Given the description of an element on the screen output the (x, y) to click on. 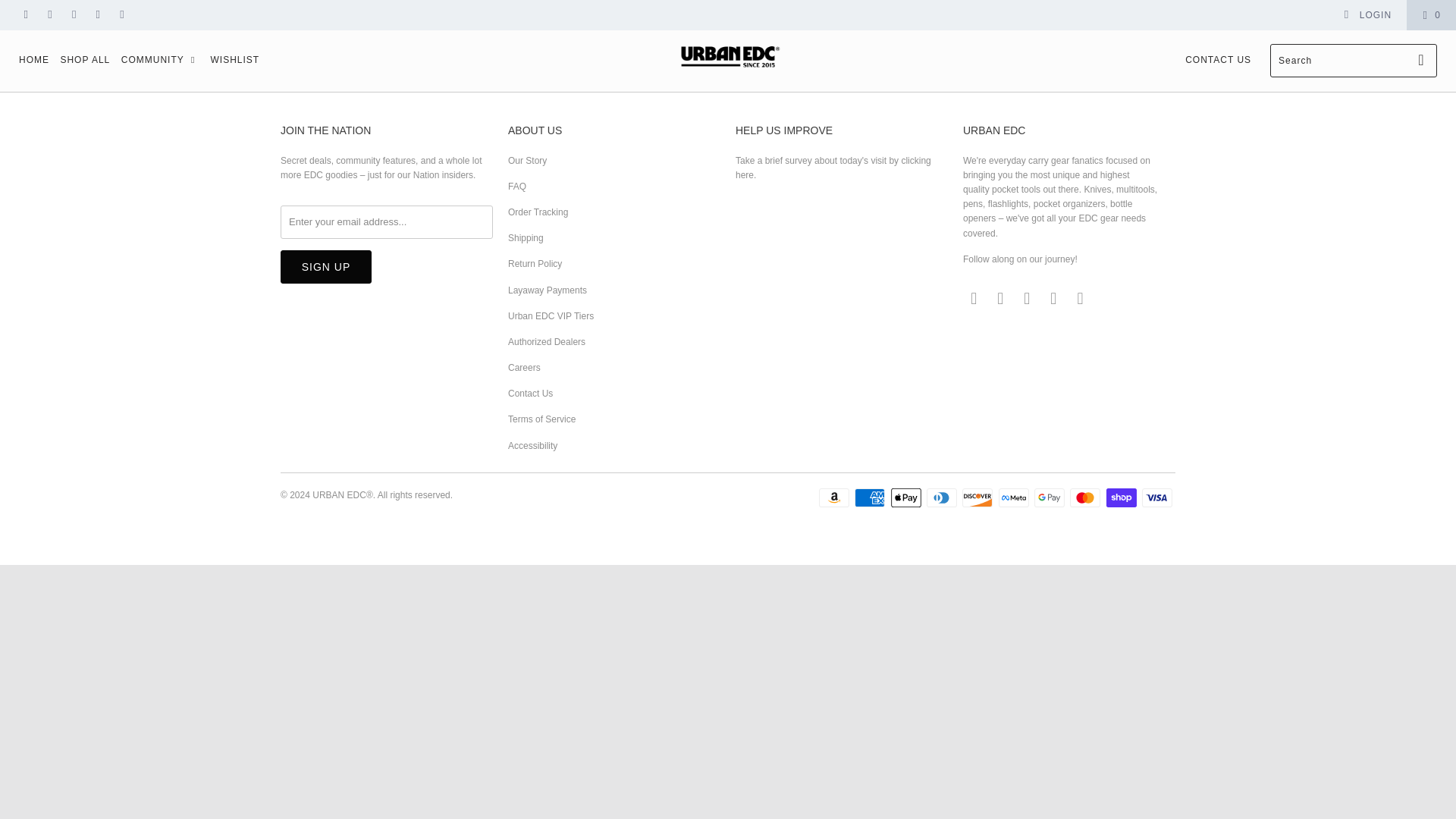
CONTACT US (1217, 60)
WISHLIST (234, 60)
LOGIN (1366, 15)
Sign Up (326, 266)
SHOP ALL (84, 60)
My Account  (1366, 15)
COMMUNITY (159, 60)
